Given the description of an element on the screen output the (x, y) to click on. 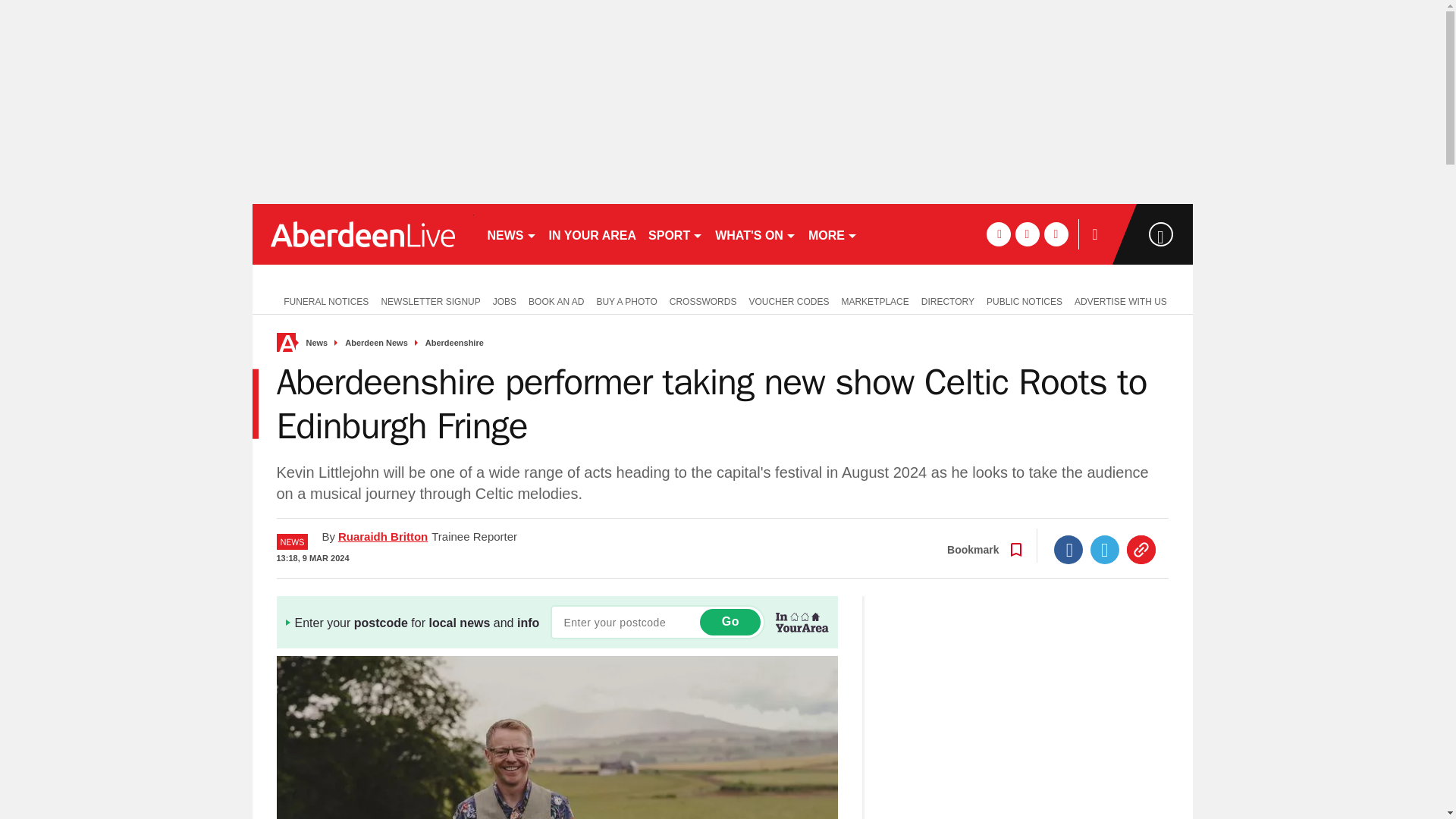
facebook (997, 233)
CROSSWORDS (702, 300)
Twitter (1104, 549)
instagram (1055, 233)
NEWS (510, 233)
IN YOUR AREA (593, 233)
aberdeenlive (362, 233)
WHAT'S ON (755, 233)
Go (730, 622)
JOBS (504, 300)
FUNERAL NOTICES (322, 300)
Facebook (1068, 549)
NEWSLETTER SIGNUP (430, 300)
twitter (1026, 233)
BUY A PHOTO (625, 300)
